Given the description of an element on the screen output the (x, y) to click on. 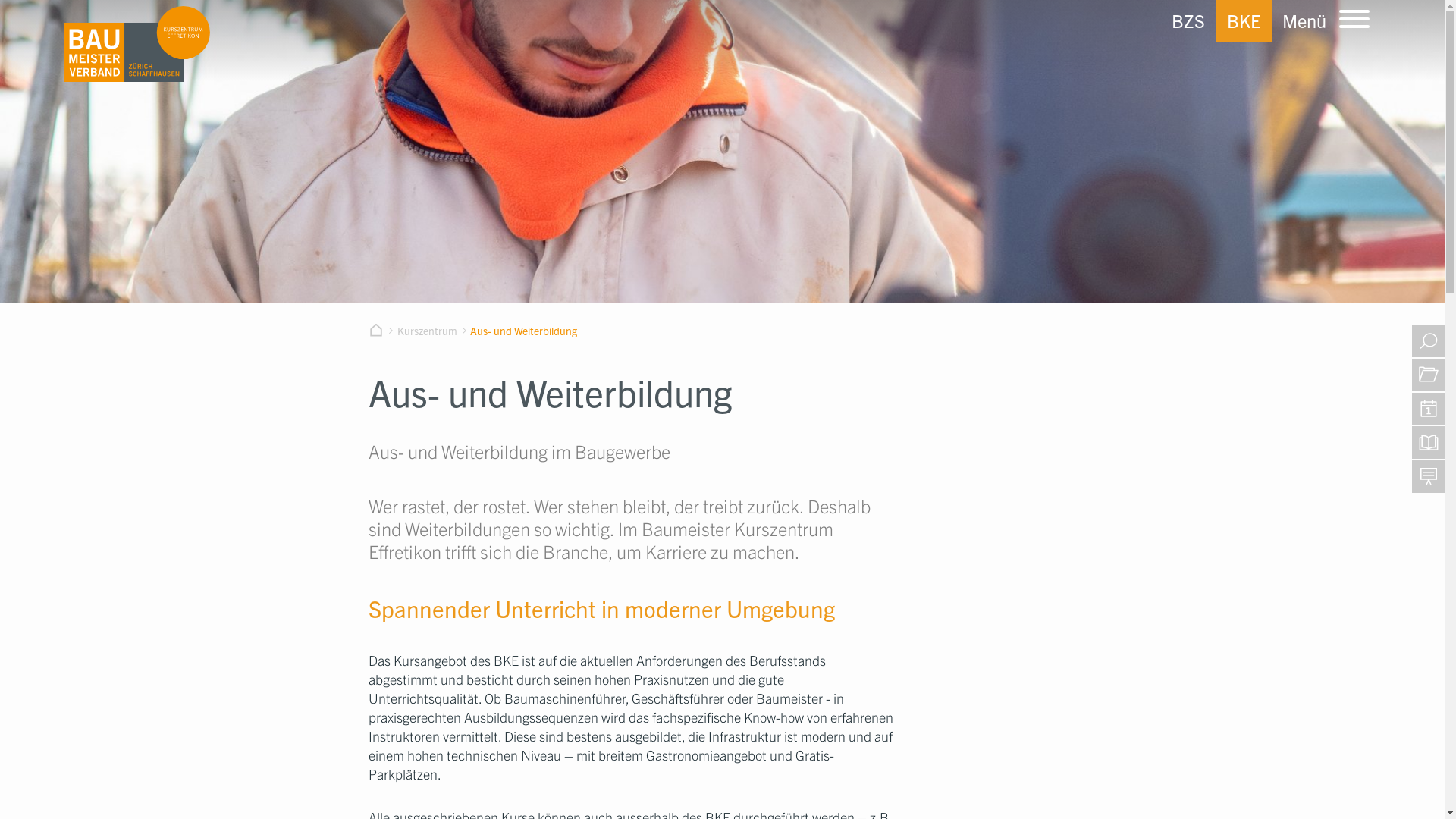
Aus- und Weiterbildung Element type: text (523, 330)
Mitgliederverzeichnis Element type: text (1423, 374)
Suche Element type: text (1421, 340)
Weiterbildung Element type: text (1423, 442)
Kurszentrum Element type: text (427, 330)
BZS Element type: text (1187, 20)
BKE Element type: text (1243, 20)
Agenda Element type: text (1423, 408)
